Given the description of an element on the screen output the (x, y) to click on. 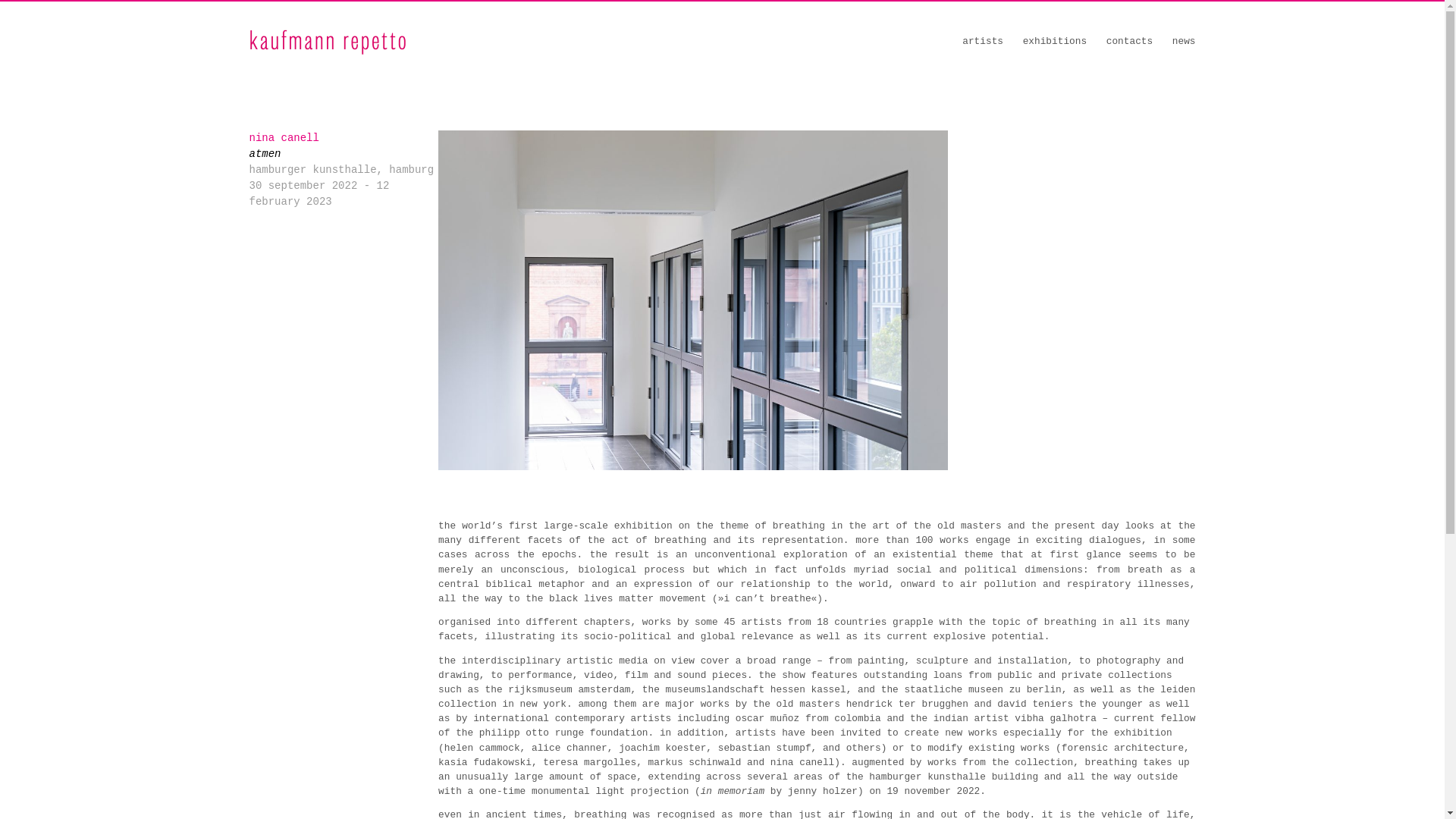
news (1183, 41)
contacts (1129, 41)
artists (982, 41)
exhibitions (1054, 41)
nina canell (283, 137)
